Given the description of an element on the screen output the (x, y) to click on. 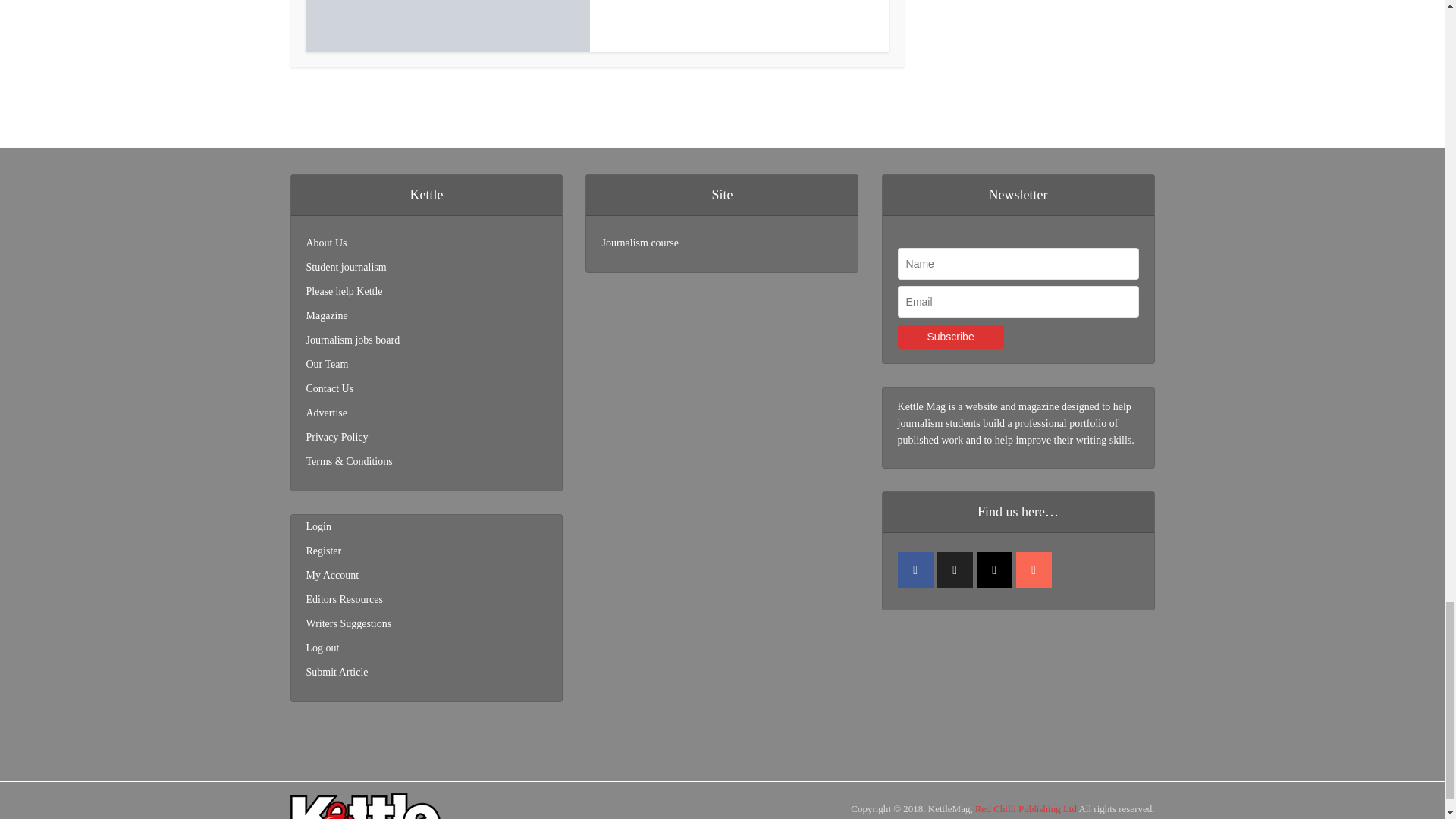
Subscribe (951, 336)
